Given the description of an element on the screen output the (x, y) to click on. 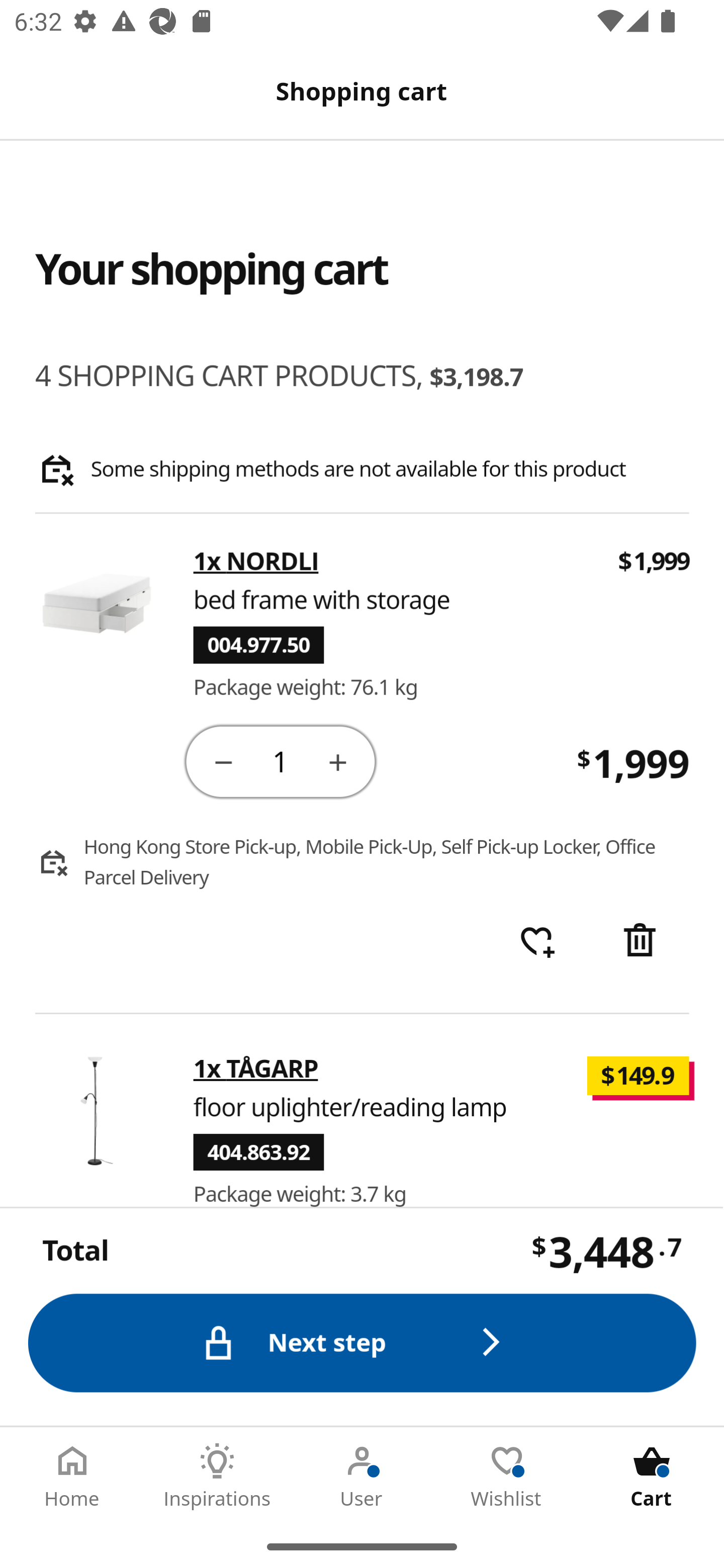
1x  NORDLI 1x  NORDLI (256, 561)
1 (281, 760)
 (223, 761)
 (338, 761)
  (536, 942)
 (641, 942)
1x  TÅGARP 1x  TÅGARP (256, 1068)
Home
Tab 1 of 5 (72, 1476)
Inspirations
Tab 2 of 5 (216, 1476)
User
Tab 3 of 5 (361, 1476)
Wishlist
Tab 4 of 5 (506, 1476)
Cart
Tab 5 of 5 (651, 1476)
